Given the description of an element on the screen output the (x, y) to click on. 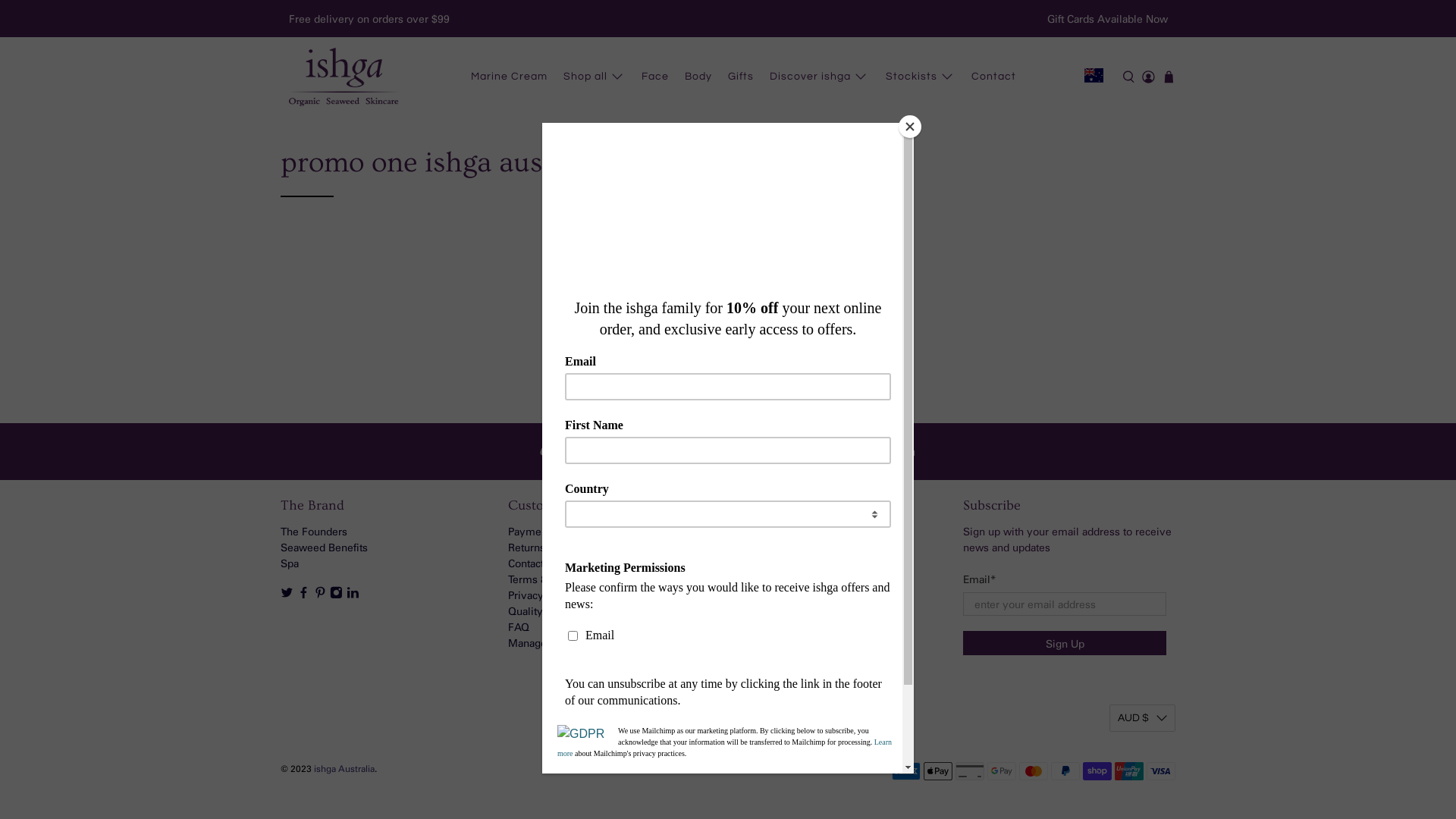
Contact Element type: text (993, 76)
Discover ishga Element type: text (820, 76)
TWD Element type: text (1142, 322)
THB Element type: text (1142, 217)
Spa Element type: text (289, 562)
UZS Element type: text (1142, 476)
USD Element type: text (1142, 425)
STD Element type: text (1142, 191)
Privacy Policy Element type: text (542, 594)
TTD Element type: text (1142, 296)
SBD Element type: text (1142, 62)
Body Element type: text (698, 76)
SEK Element type: text (1142, 88)
Harvesting and Processing Element type: text (799, 578)
SGD Element type: text (1142, 114)
ishga Australia on Facebook Element type: hover (303, 594)
TZS Element type: text (1142, 347)
XOF Element type: text (1142, 631)
ishga Australia on LinkedIn Element type: hover (352, 594)
ishga Australia on Twitter Element type: hover (286, 594)
AUD $ Element type: text (1142, 717)
Gifts Element type: text (741, 76)
Gift Cards Available Now Element type: text (1106, 18)
XAF Element type: text (1142, 580)
SAR Element type: text (1142, 37)
Awards Element type: text (753, 531)
Face Element type: text (655, 76)
TJS Element type: text (1142, 243)
ishga Australia on Pinterest Element type: hover (319, 594)
ishga Australia on Instagram Element type: hover (335, 594)
ishga Australia Element type: hover (343, 76)
Quality Assured Element type: text (547, 610)
Marine Cream Element type: text (508, 76)
Payment & Delivery Element type: text (556, 531)
ishga Australia Element type: text (343, 768)
Shop all Element type: text (594, 76)
SLL Element type: text (1142, 165)
UYU Element type: text (1142, 451)
UGX Element type: text (1142, 399)
Sponsorship Element type: text (765, 546)
VND Element type: text (1142, 502)
SHP Element type: text (1142, 140)
Sign Up Element type: text (1064, 642)
Search Element type: text (751, 594)
XCD Element type: text (1142, 605)
Stockists Element type: text (920, 76)
Returns & Refunds Element type: text (552, 546)
YER Element type: text (1142, 683)
XPF Element type: text (1142, 657)
VUV Element type: text (1142, 528)
Manage Your Account Element type: text (560, 642)
Contact Us Element type: text (533, 562)
Terms & Conditions Element type: text (554, 578)
Seaweed Benefits Element type: text (323, 546)
The Founders Element type: text (313, 531)
UAH Element type: text (1142, 373)
WST Element type: text (1142, 554)
FAQ Element type: text (518, 626)
TOP Element type: text (1142, 270)
The Western isles Element type: text (779, 562)
